Given the description of an element on the screen output the (x, y) to click on. 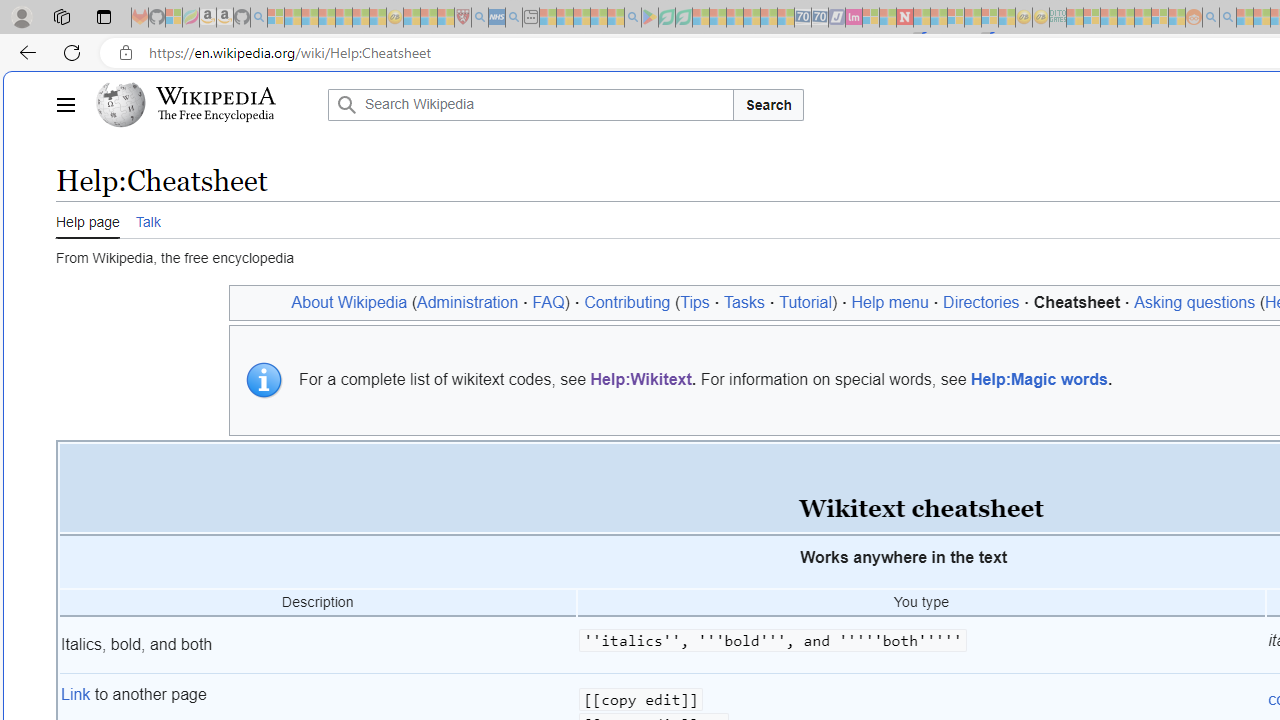
Help:Magic words (1039, 379)
''italics'', '''bold''', and '''''both''''' (921, 645)
The Free Encyclopedia (216, 116)
Directories (981, 302)
Help:Wikitext (641, 379)
